Given the description of an element on the screen output the (x, y) to click on. 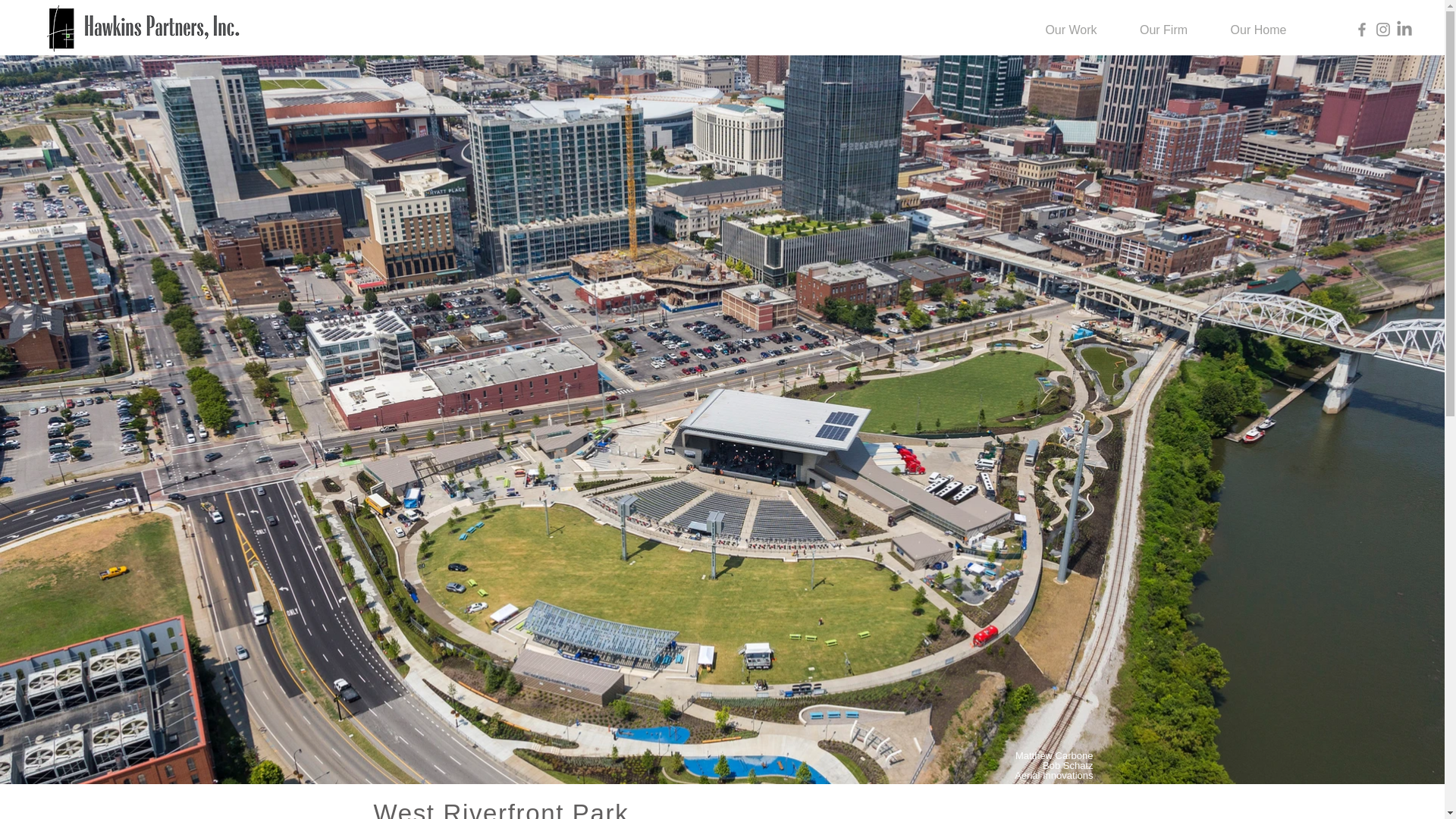
Our Work (1070, 29)
Our Home (1257, 29)
Our Firm (1163, 29)
